Given the description of an element on the screen output the (x, y) to click on. 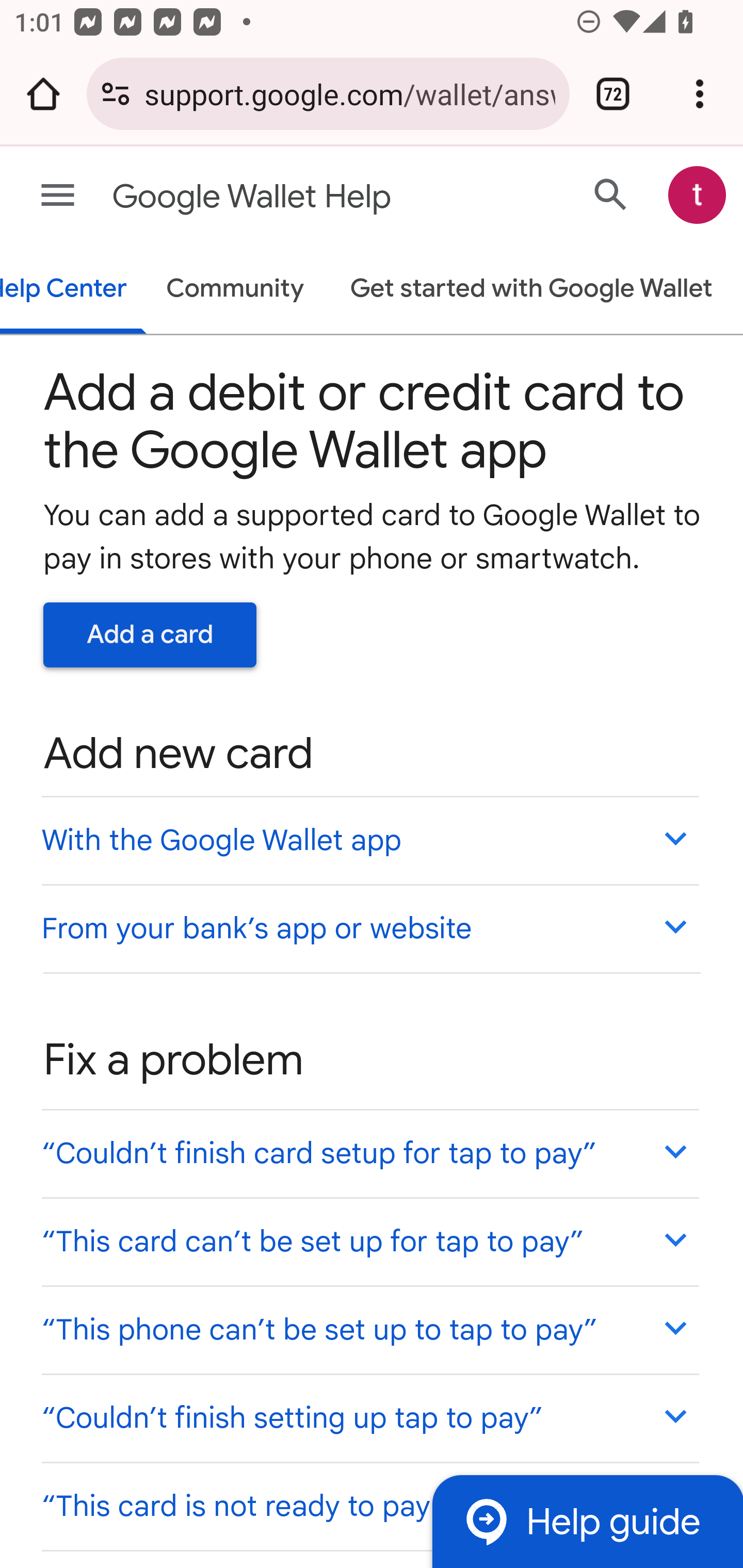
Open the home page (43, 93)
Connection is secure (115, 93)
Switch or close tabs (612, 93)
Customize and control Google Chrome (699, 93)
Main menu (58, 195)
Google Wallet Help (292, 197)
Search Help Center (611, 194)
Help Center (73, 289)
Community (235, 289)
Get started with Google Wallet (530, 289)
Add a card (150, 633)
With the Google Wallet app (369, 839)
From your bank’s app or website (369, 927)
“Couldn’t finish card setup for tap to pay” (369, 1152)
“This card can’t be set up for tap to pay” (369, 1240)
“This phone can’t be set up to tap to pay” (369, 1329)
“Couldn’t finish setting up tap to pay” (369, 1417)
“This card is not ready to pay online” (369, 1504)
Help guide (587, 1520)
